Given the description of an element on the screen output the (x, y) to click on. 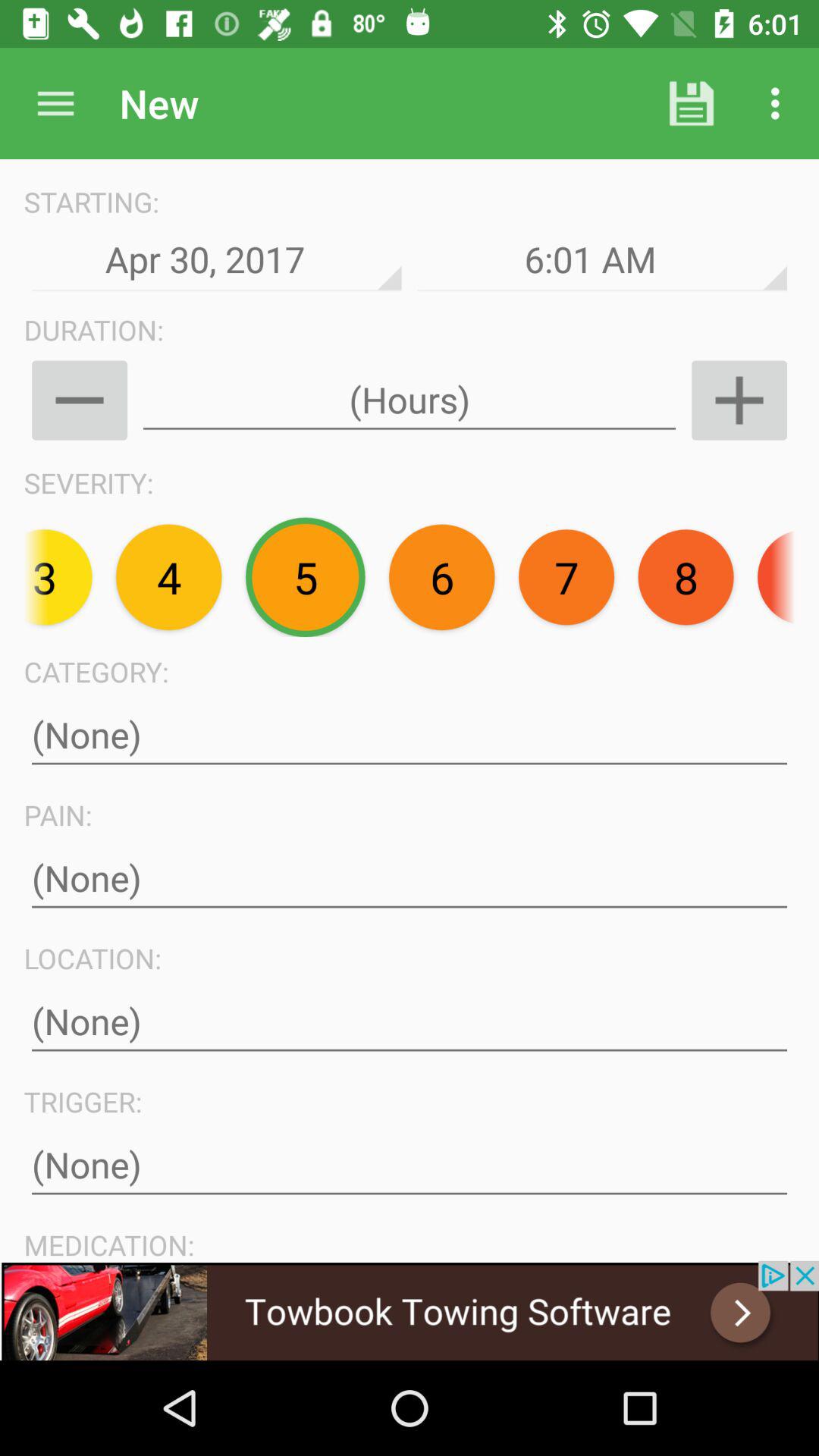
advertisement link image (409, 1310)
